Given the description of an element on the screen output the (x, y) to click on. 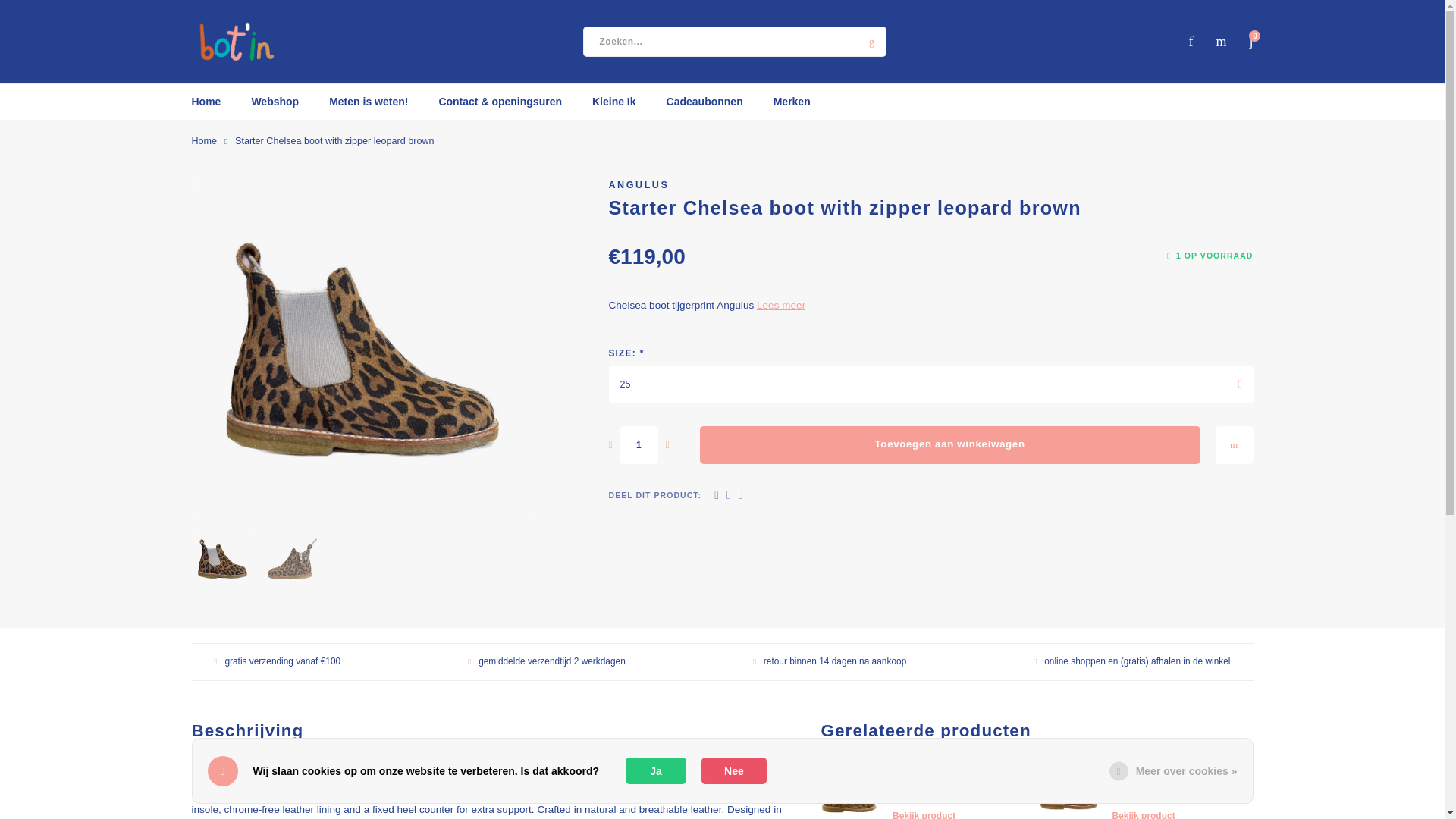
angulus Starter Chelsea boot with zipper leopard brown (222, 558)
Home (203, 141)
Toevoegen aan winkelwagen (949, 444)
angulus Starter Chelsea boot with zipper leopard brown (292, 558)
1 (639, 444)
Zoeken (871, 41)
angulus Starter Chelsea boot with zipper leopard brown (362, 349)
Aan verlanglijst toevoegen (1233, 444)
Home (212, 101)
Cadeaubonnen (704, 101)
Webshop (274, 101)
